Given the description of an element on the screen output the (x, y) to click on. 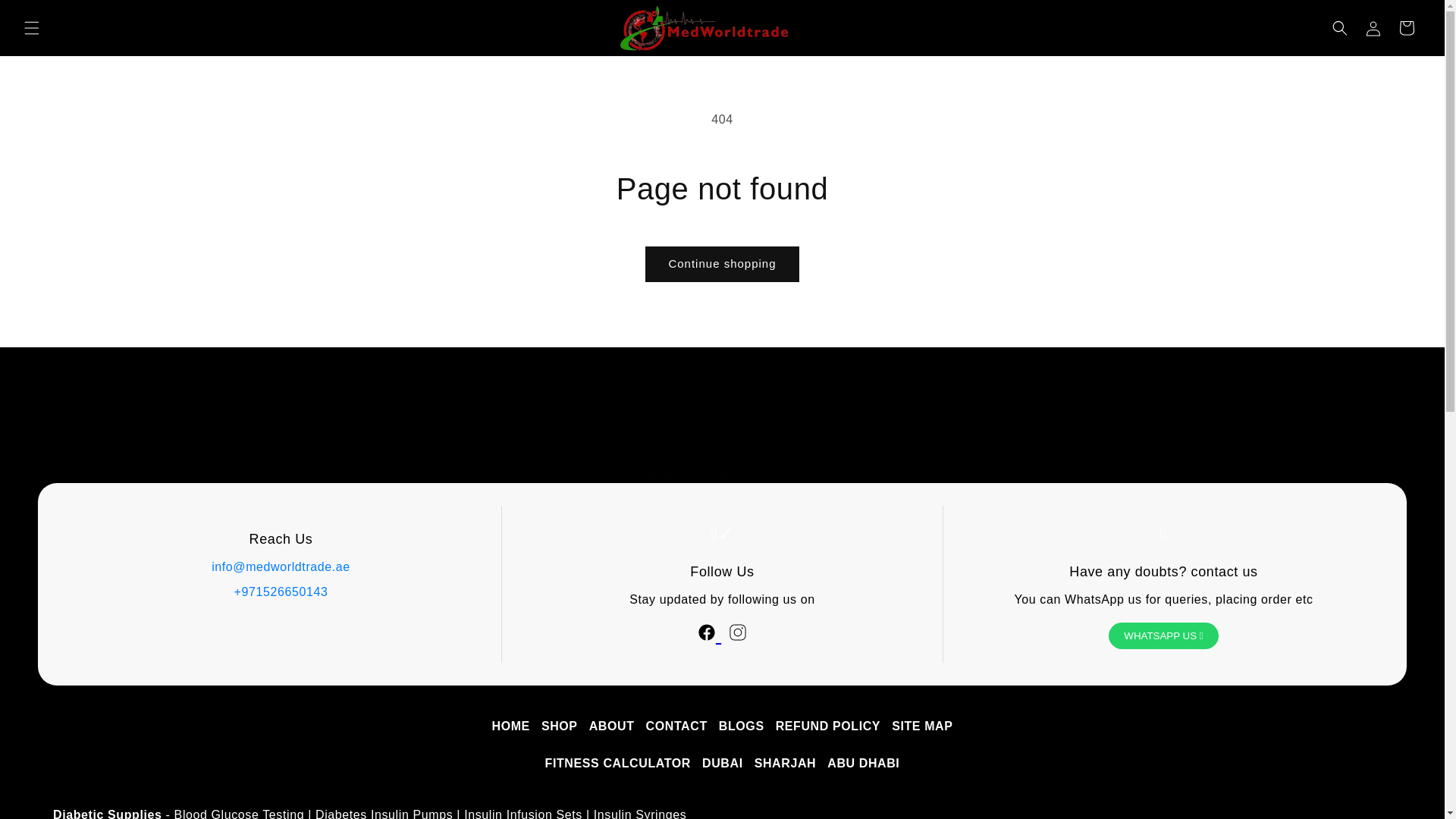
Skip to content (45, 17)
